Given the description of an element on the screen output the (x, y) to click on. 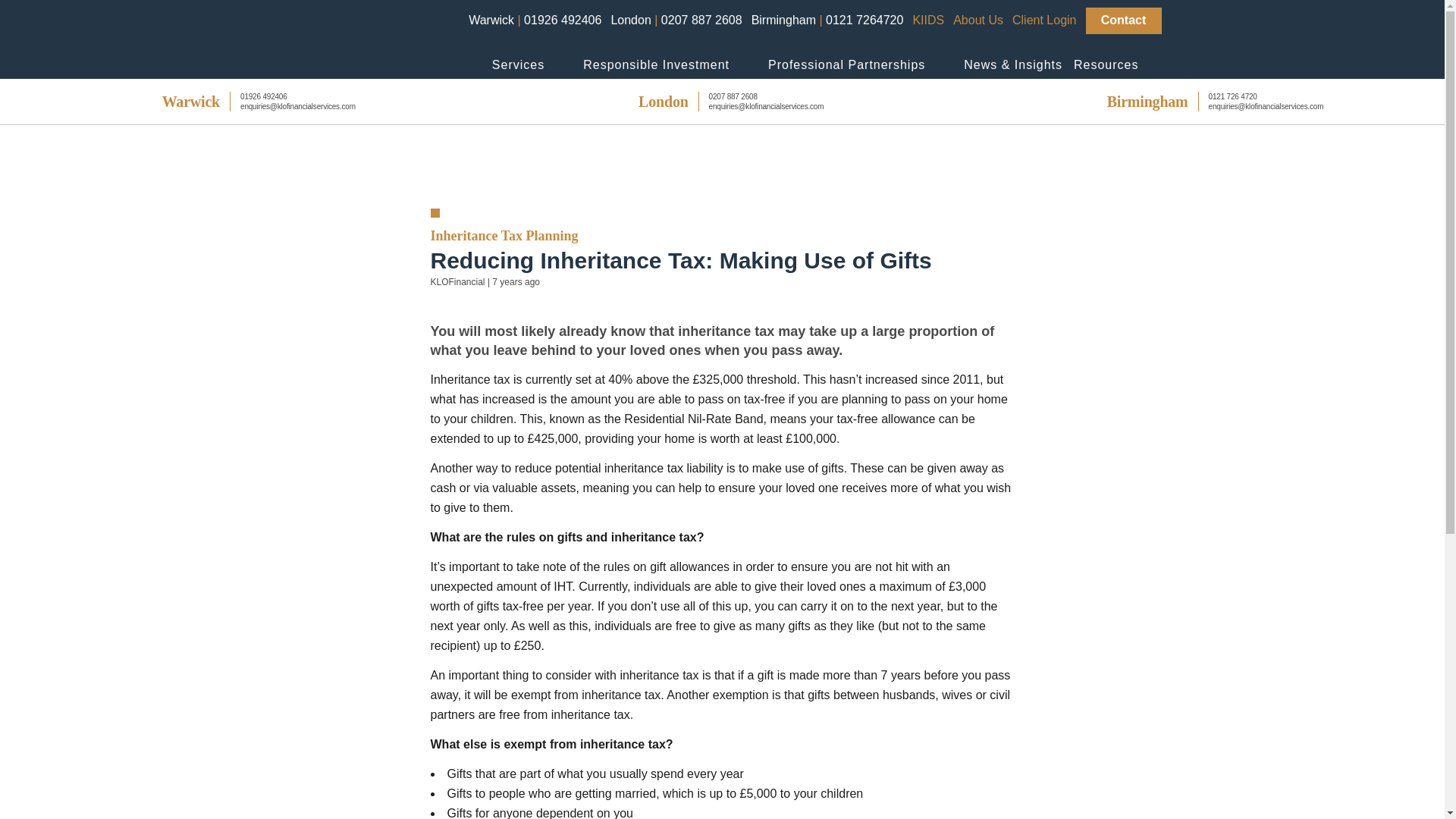
warwick (238, 101)
Responsible Investment (656, 64)
Services (518, 64)
london (710, 101)
KIIDS (927, 19)
Contact (1123, 20)
KLO Financial Services (345, 44)
Resources (1106, 64)
Inheritance Tax Planning (504, 235)
Client Login (1044, 19)
About Us (978, 19)
KLO Financial Services (345, 35)
Professional Partnerships (846, 64)
